Given the description of an element on the screen output the (x, y) to click on. 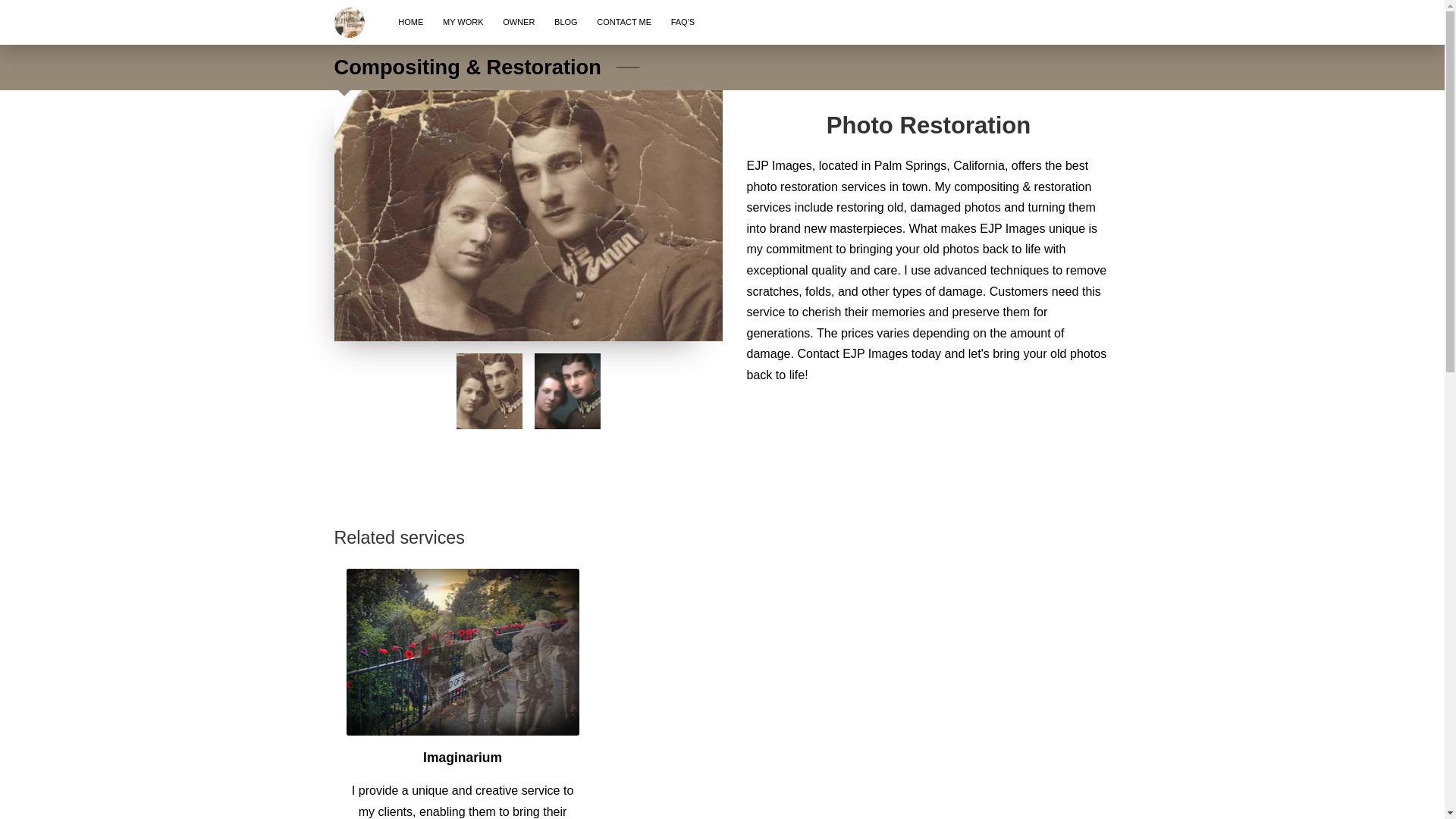
Imaginarium (462, 757)
BLOG (565, 22)
OWNER (518, 22)
FAQ'S (682, 22)
CONTACT ME (623, 22)
HOME (410, 22)
MY WORK (462, 22)
